Given the description of an element on the screen output the (x, y) to click on. 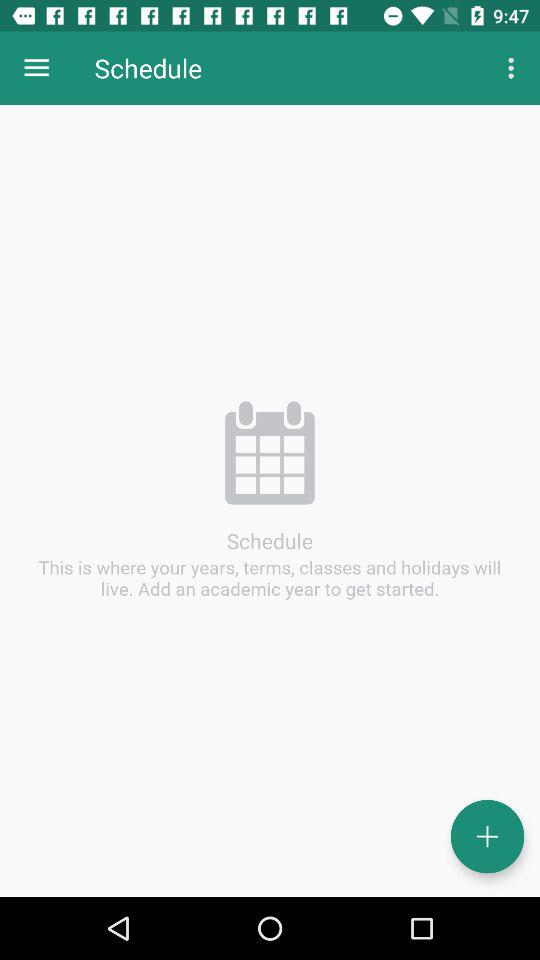
add academic year (487, 836)
